Given the description of an element on the screen output the (x, y) to click on. 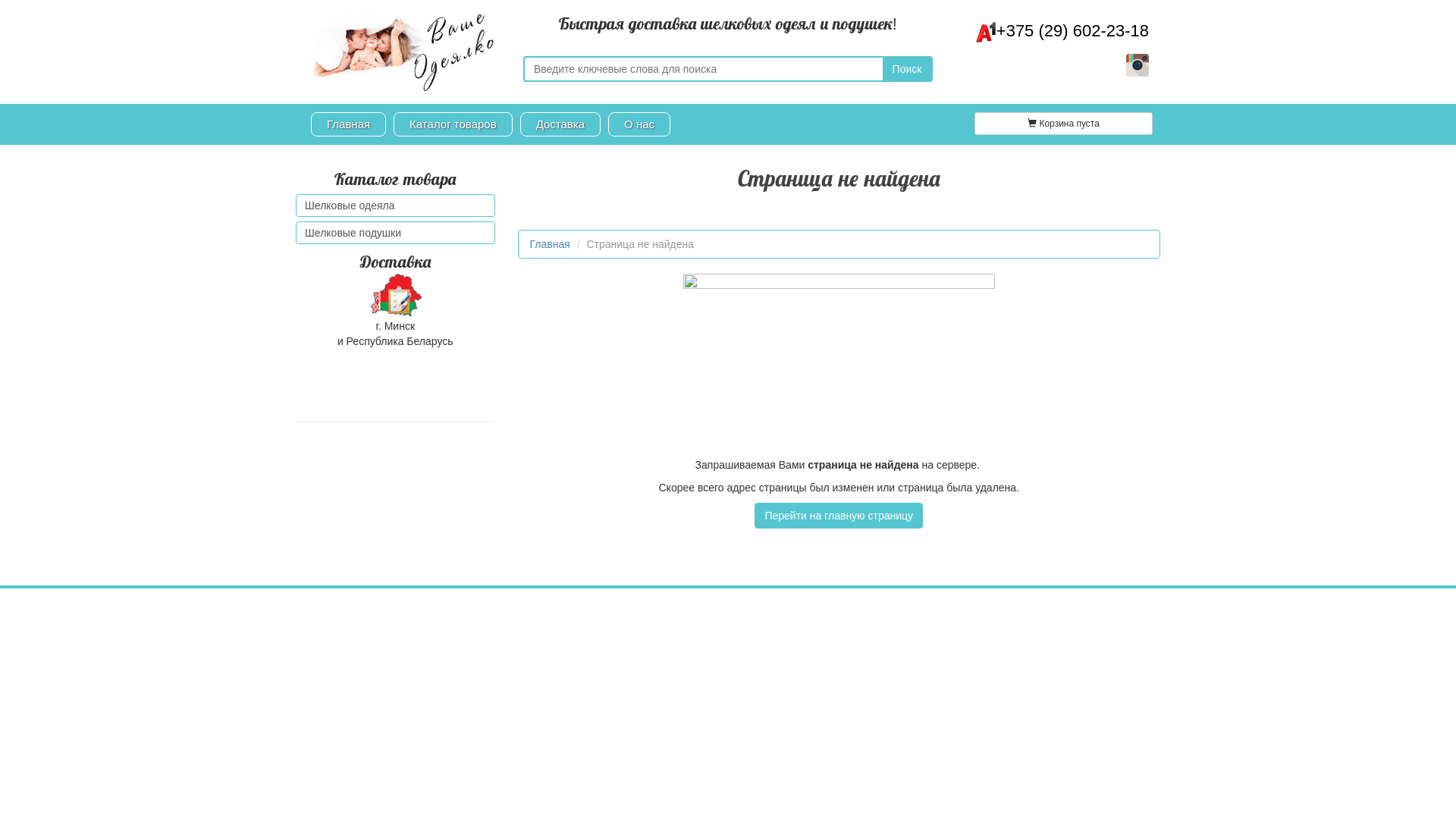
+375 (29) 602-23-18 Element type: text (1061, 30)
